Given the description of an element on the screen output the (x, y) to click on. 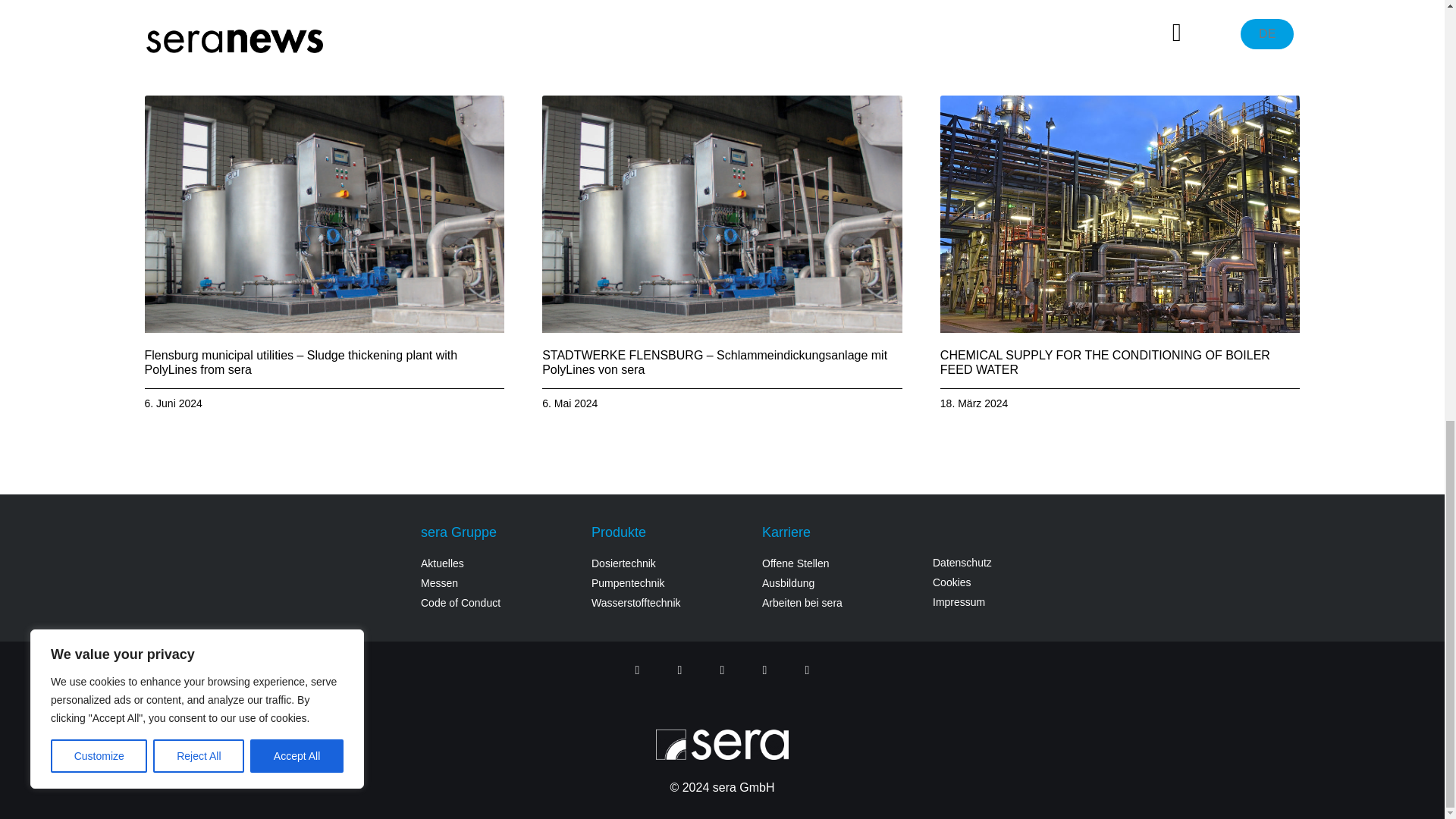
Aktuelles (498, 563)
Code of Conduct (498, 602)
Dosiertechnik (668, 563)
Messen (498, 583)
CHEMICAL SUPPLY FOR THE CONDITIONING OF BOILER FEED WATER (1104, 361)
